Given the description of an element on the screen output the (x, y) to click on. 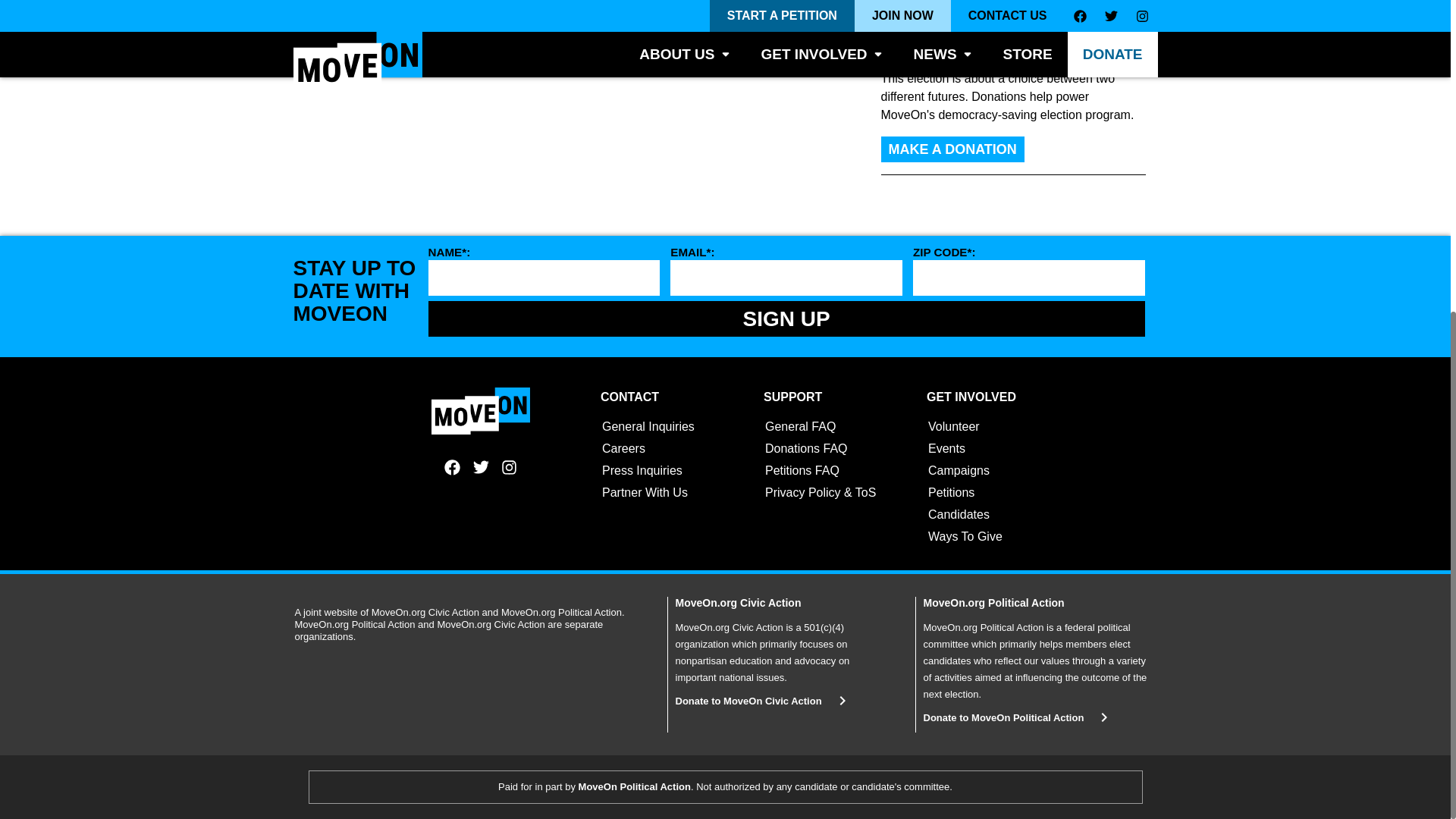
MAKE A DONATION (952, 149)
EXPLORE OUR ENDORSEMENTS (997, 11)
